Given the description of an element on the screen output the (x, y) to click on. 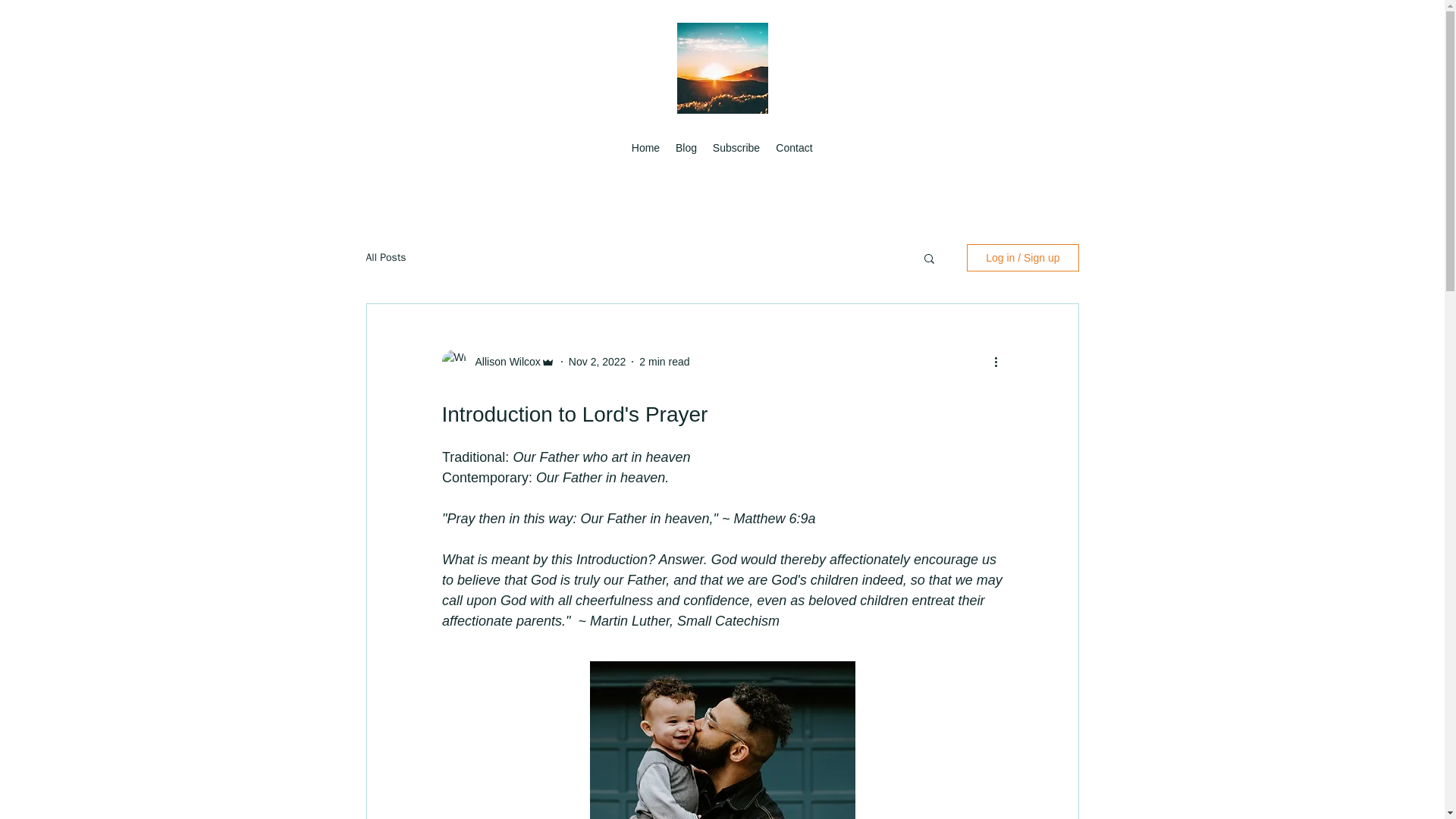
Allison Wilcox (502, 360)
Nov 2, 2022 (597, 360)
2 min read (663, 360)
Contact (794, 147)
All Posts (385, 257)
Subscribe (735, 147)
Blog (685, 147)
Home (644, 147)
